Given the description of an element on the screen output the (x, y) to click on. 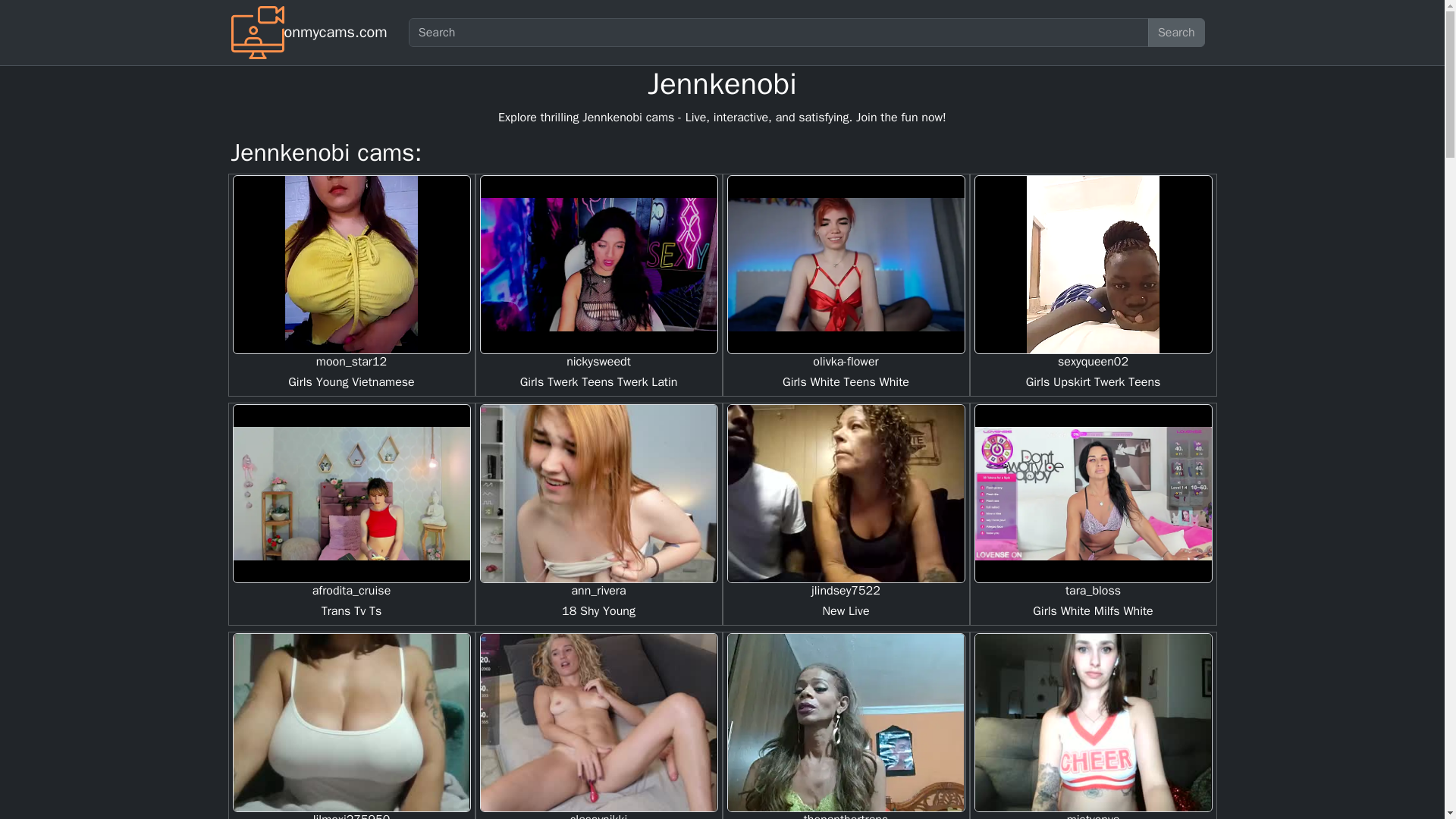
onmycams.com (335, 32)
Search (1176, 32)
